Given the description of an element on the screen output the (x, y) to click on. 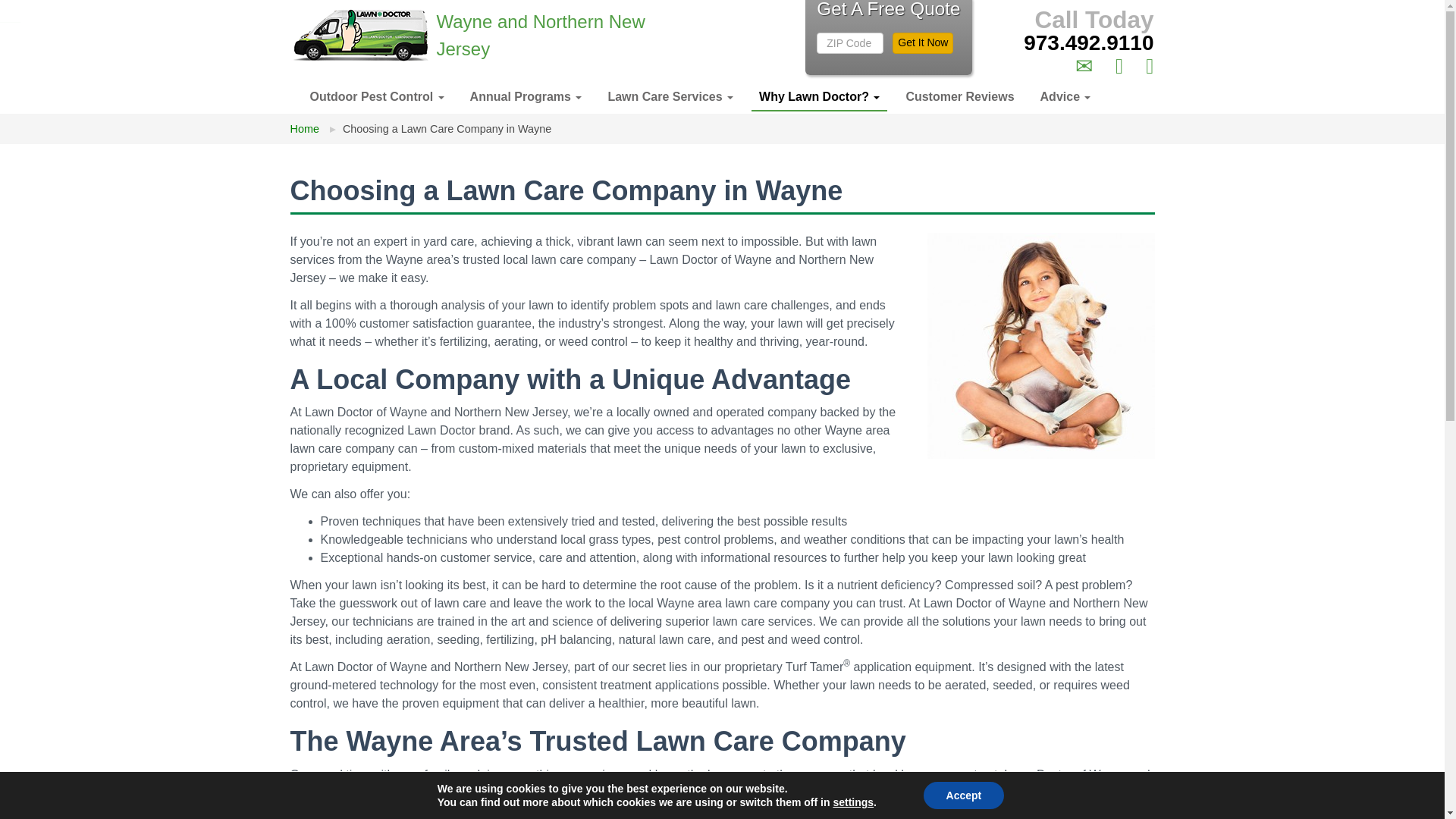
Outdoor Pest Control (376, 96)
Lawn Care Services (670, 98)
Annual Programs (526, 98)
Customer Reviews (960, 98)
973.492.9110 (1088, 42)
Wayne and Northern New Jersey (442, 35)
Lawn Care Services (670, 98)
Outdoor Pest Control (376, 96)
Why Lawn Doctor? (818, 97)
Search (1149, 64)
Advice (1065, 98)
Get It Now (922, 43)
Annual Programs (526, 98)
